Given the description of an element on the screen output the (x, y) to click on. 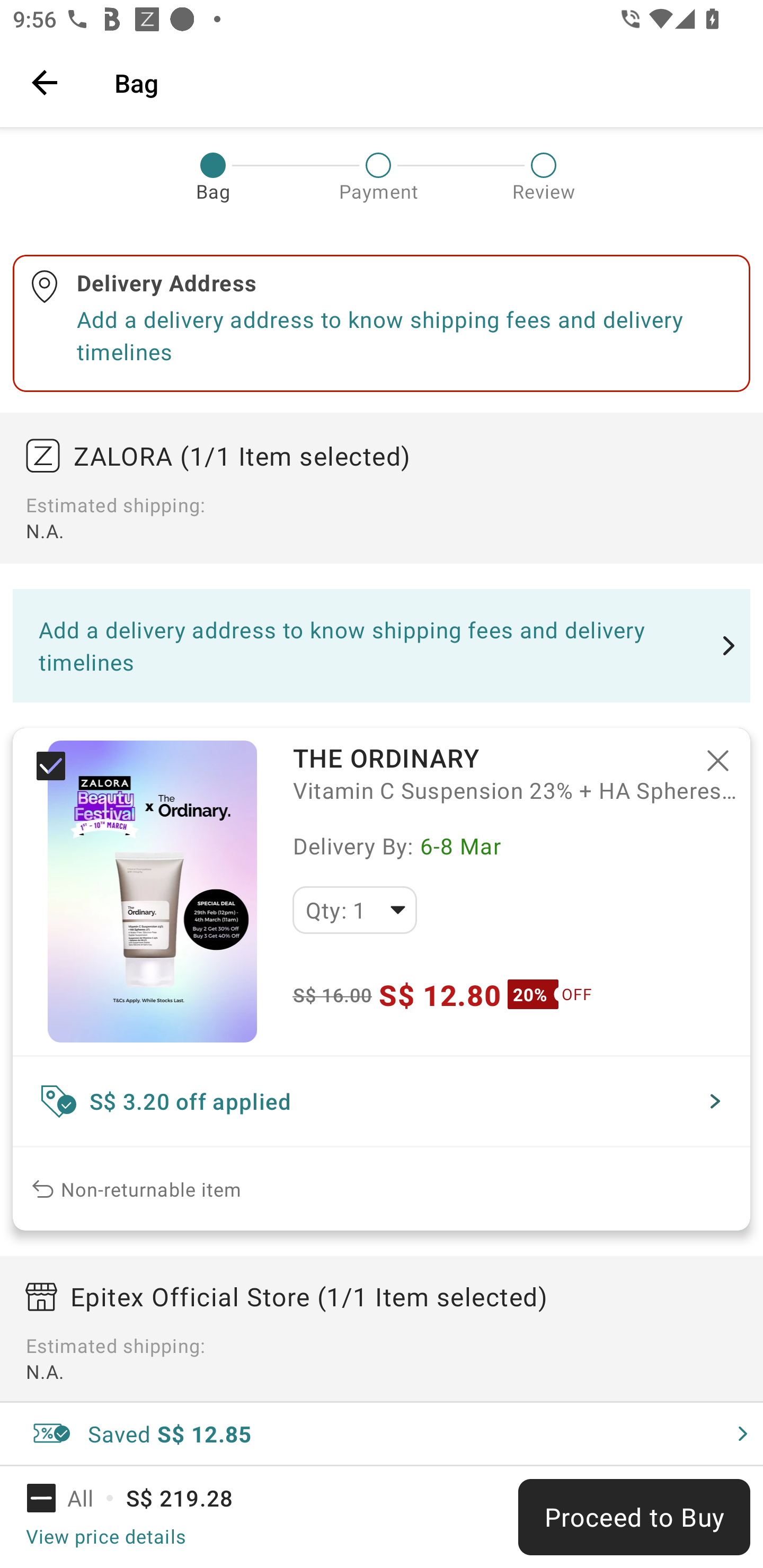
Navigate up (44, 82)
Bag (426, 82)
Qty: 1 (354, 909)
S$ 3.20 off applied (381, 1101)
Saved S$ 12.85 (381, 1433)
All (72, 1497)
Proceed to Buy (634, 1516)
View price details (105, 1535)
